Given the description of an element on the screen output the (x, y) to click on. 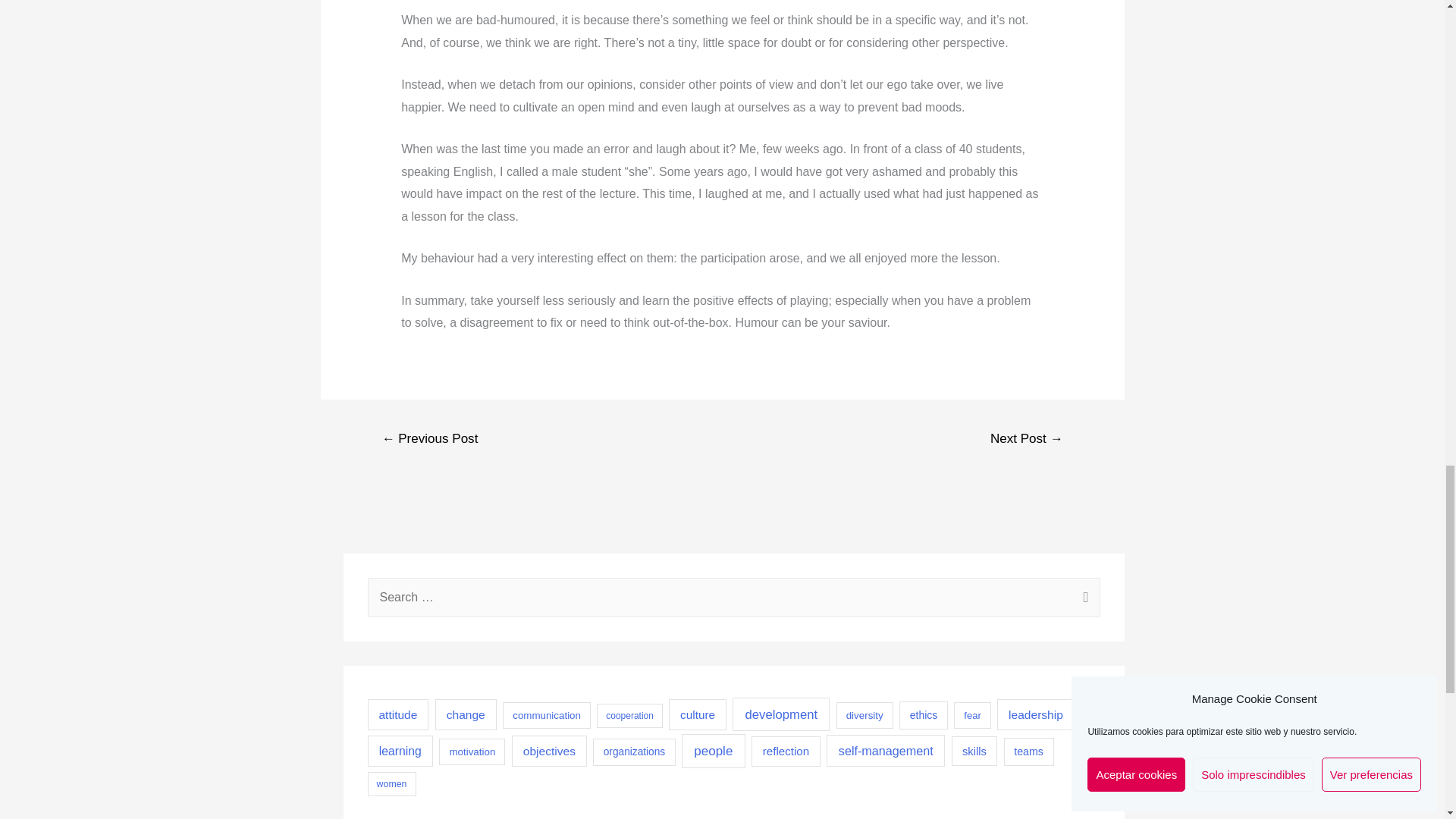
fear (971, 714)
development (780, 714)
cooperation (629, 715)
attitude (397, 714)
communication (546, 714)
culture (697, 714)
change (465, 714)
diversity (864, 714)
ethics (923, 715)
